Given the description of an element on the screen output the (x, y) to click on. 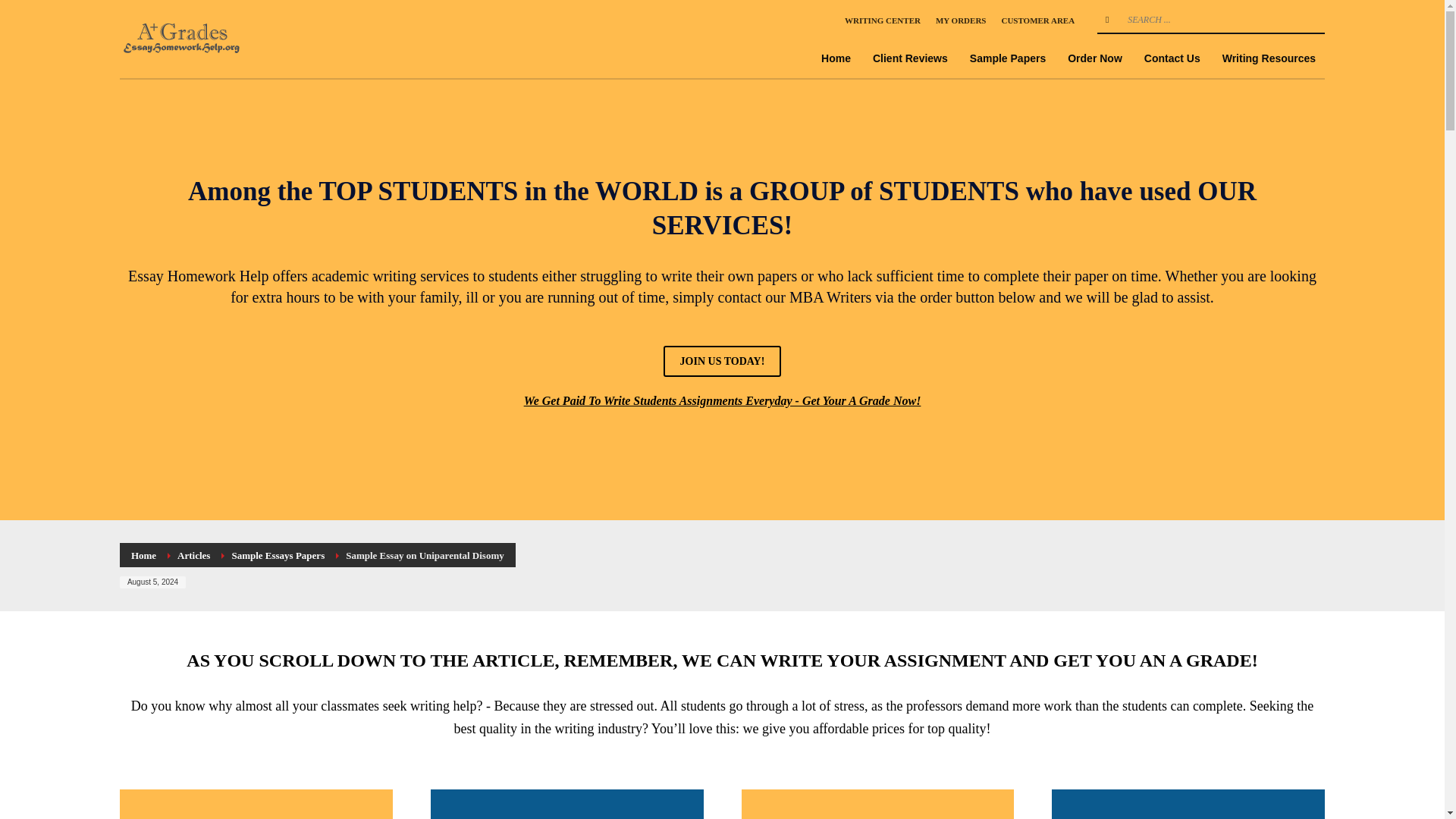
MY ORDERS (961, 20)
JOIN US TODAY! (722, 360)
Writing Resources (1268, 57)
Contact Us (1172, 57)
go (1107, 19)
Homework Help (183, 37)
WRITING CENTER (882, 20)
CUSTOMER AREA (1037, 20)
Order Now (1094, 57)
Home (836, 57)
Sample Papers (1007, 57)
Client Reviews (909, 57)
Articles (193, 555)
Home (143, 555)
Sample Essays Papers (277, 555)
